Given the description of an element on the screen output the (x, y) to click on. 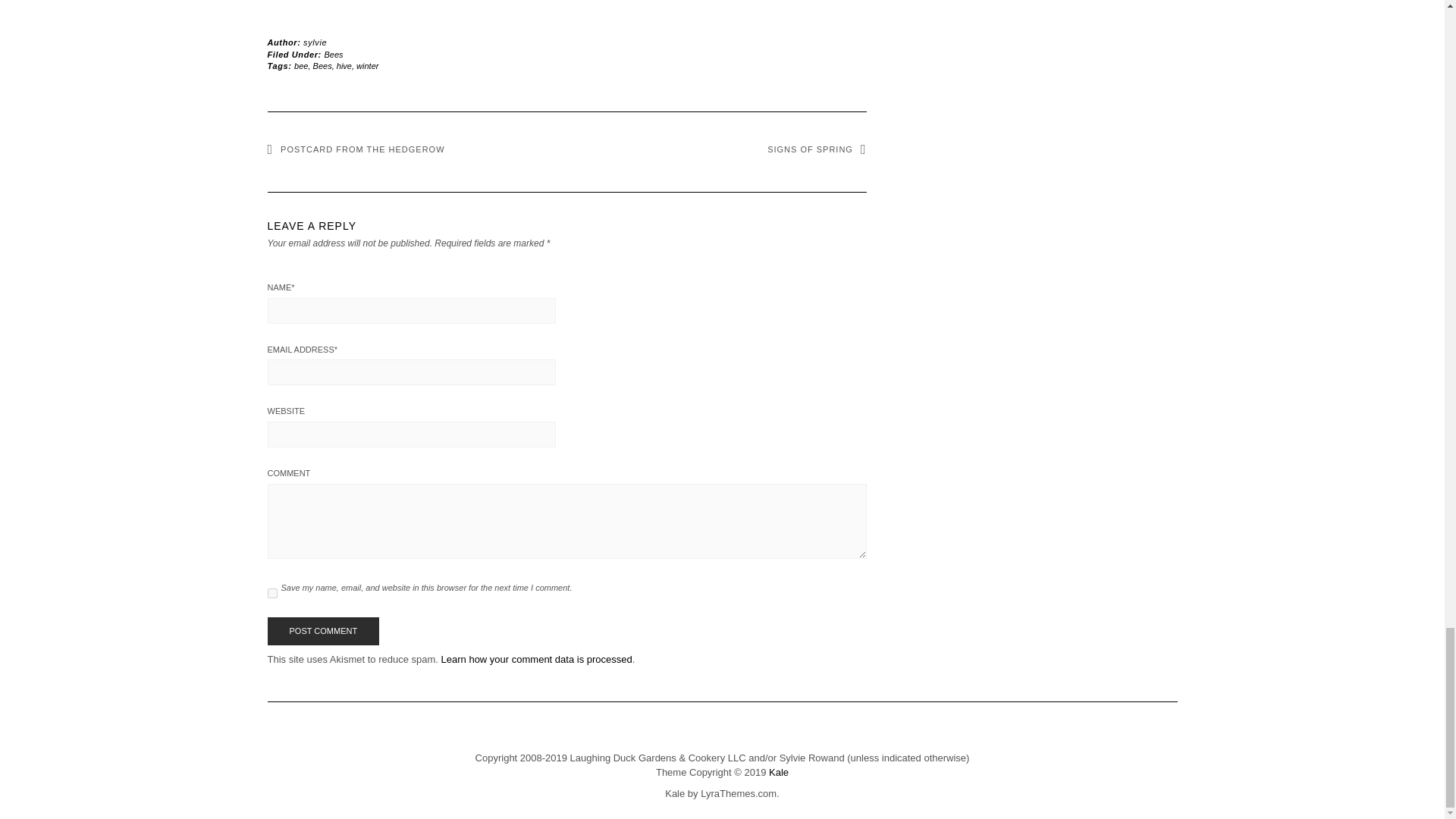
hive (344, 65)
Post Comment (322, 631)
Post Comment (322, 631)
sylvie (314, 41)
Bees (333, 53)
Bees (322, 65)
SIGNS OF SPRING (816, 148)
POSTCARD FROM THE HEDGEROW (355, 148)
Learn how your comment data is processed (536, 659)
winter (367, 65)
bee (300, 65)
yes (271, 593)
Posts by sylvie (314, 41)
